Given the description of an element on the screen output the (x, y) to click on. 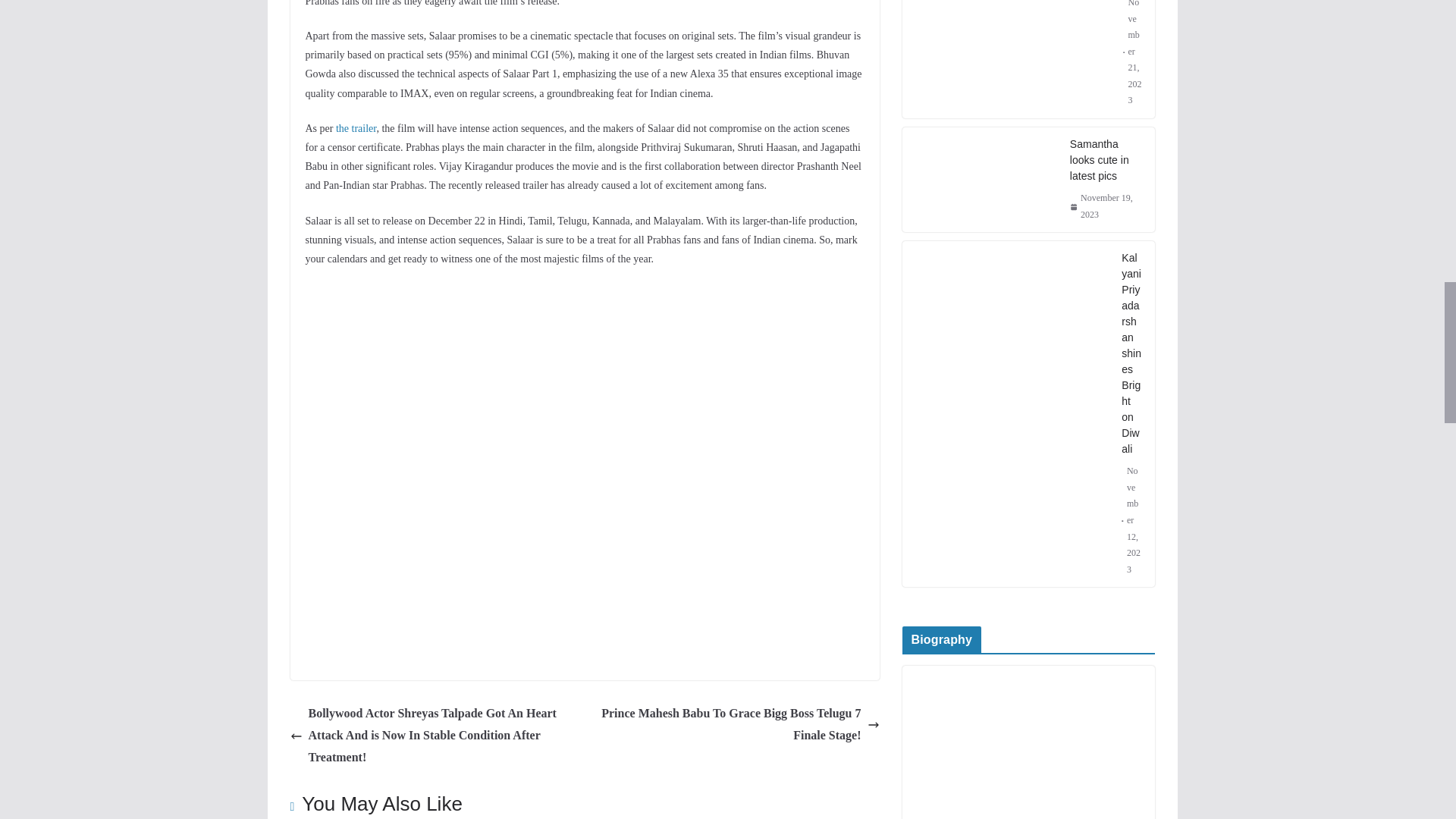
the trailer (355, 128)
Prince Mahesh Babu To Grace Bigg Boss Telugu 7 Finale Stage! (735, 724)
Google News (584, 524)
